Given the description of an element on the screen output the (x, y) to click on. 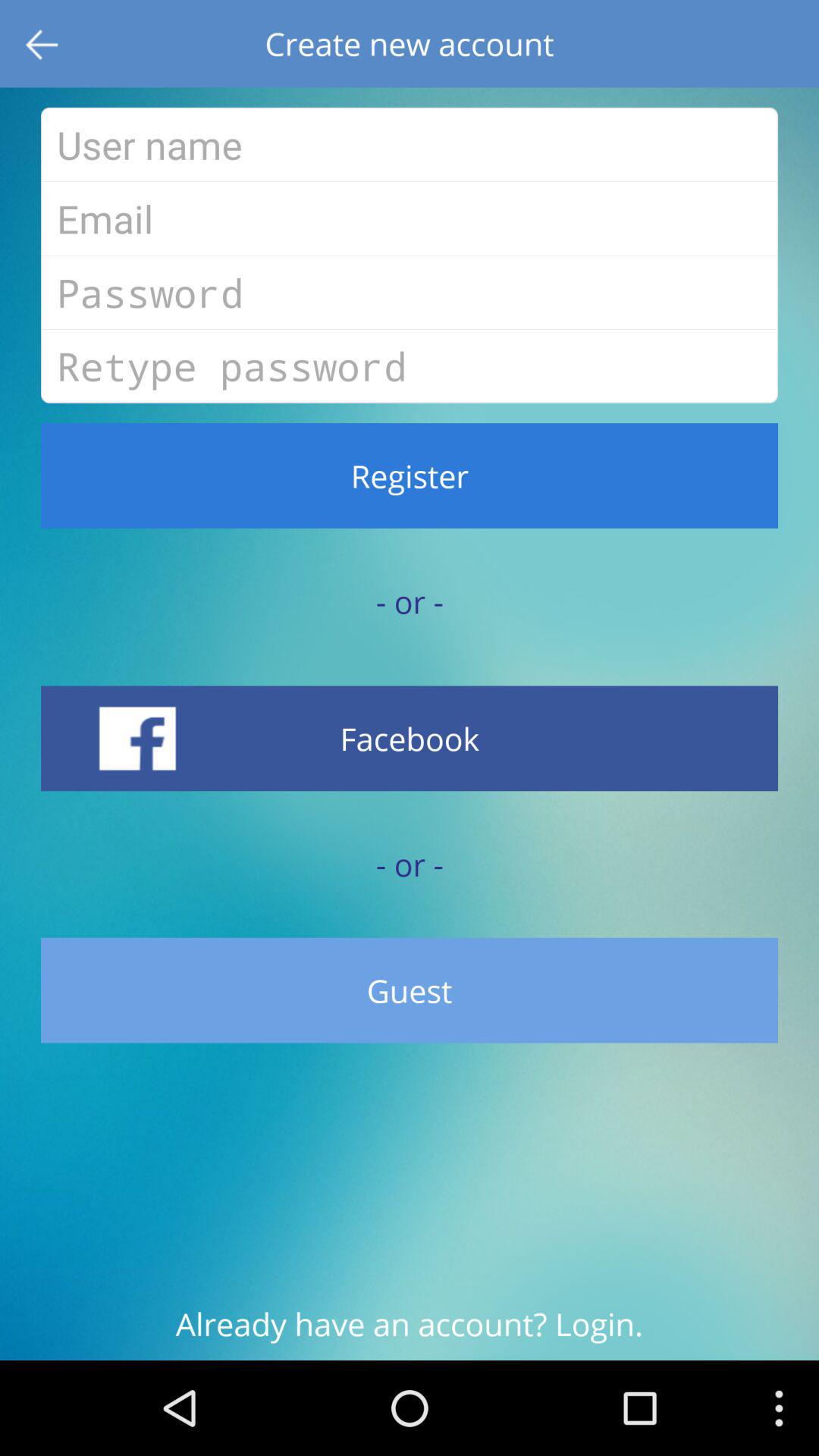
turn off the guest (409, 990)
